Given the description of an element on the screen output the (x, y) to click on. 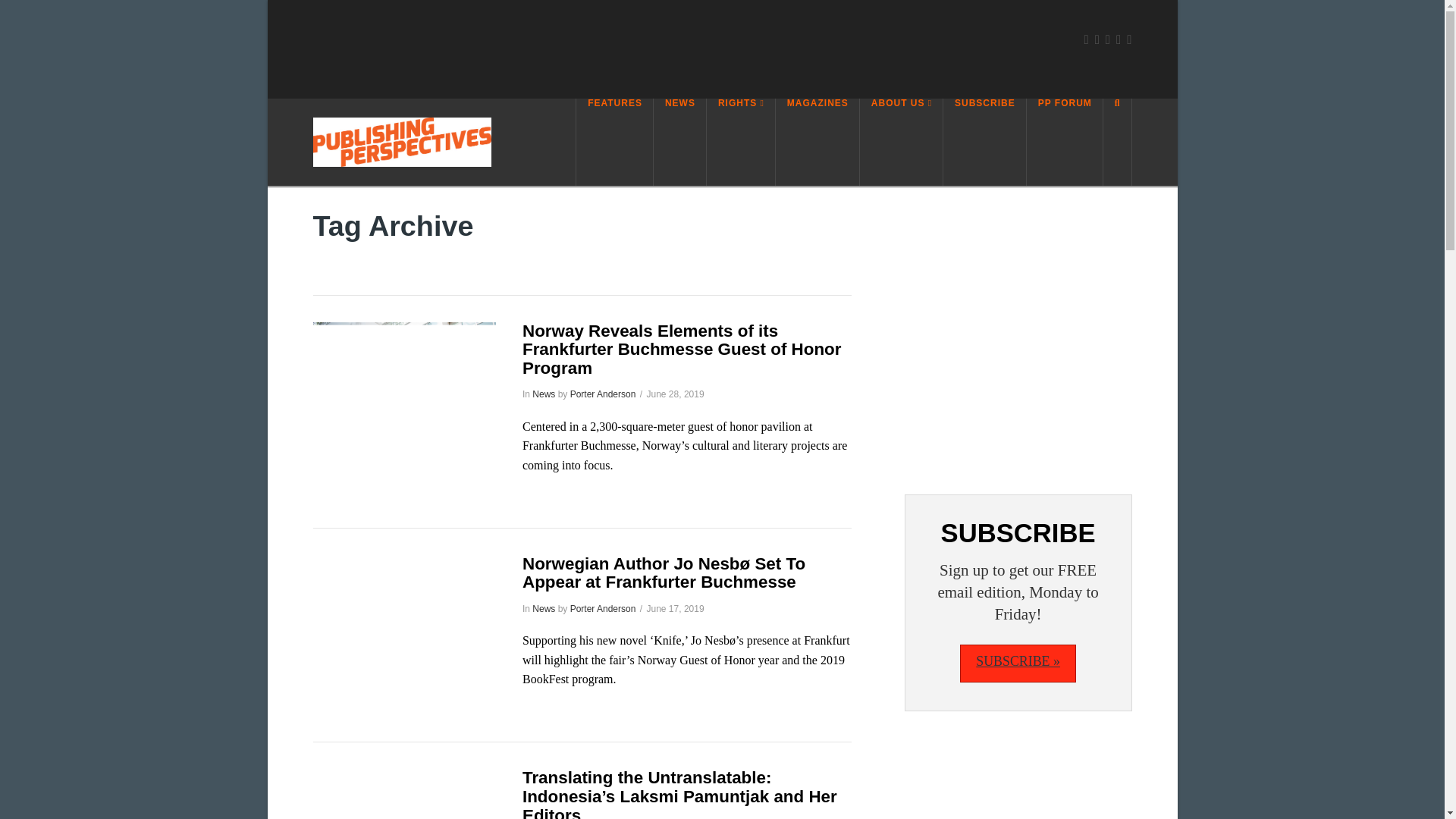
Porter Anderson (603, 608)
Porter Anderson (603, 394)
MAGAZINES (818, 141)
News (543, 394)
SUBSCRIBE (984, 141)
FEATURES (614, 141)
News (543, 608)
ABOUT US (901, 141)
